Given the description of an element on the screen output the (x, y) to click on. 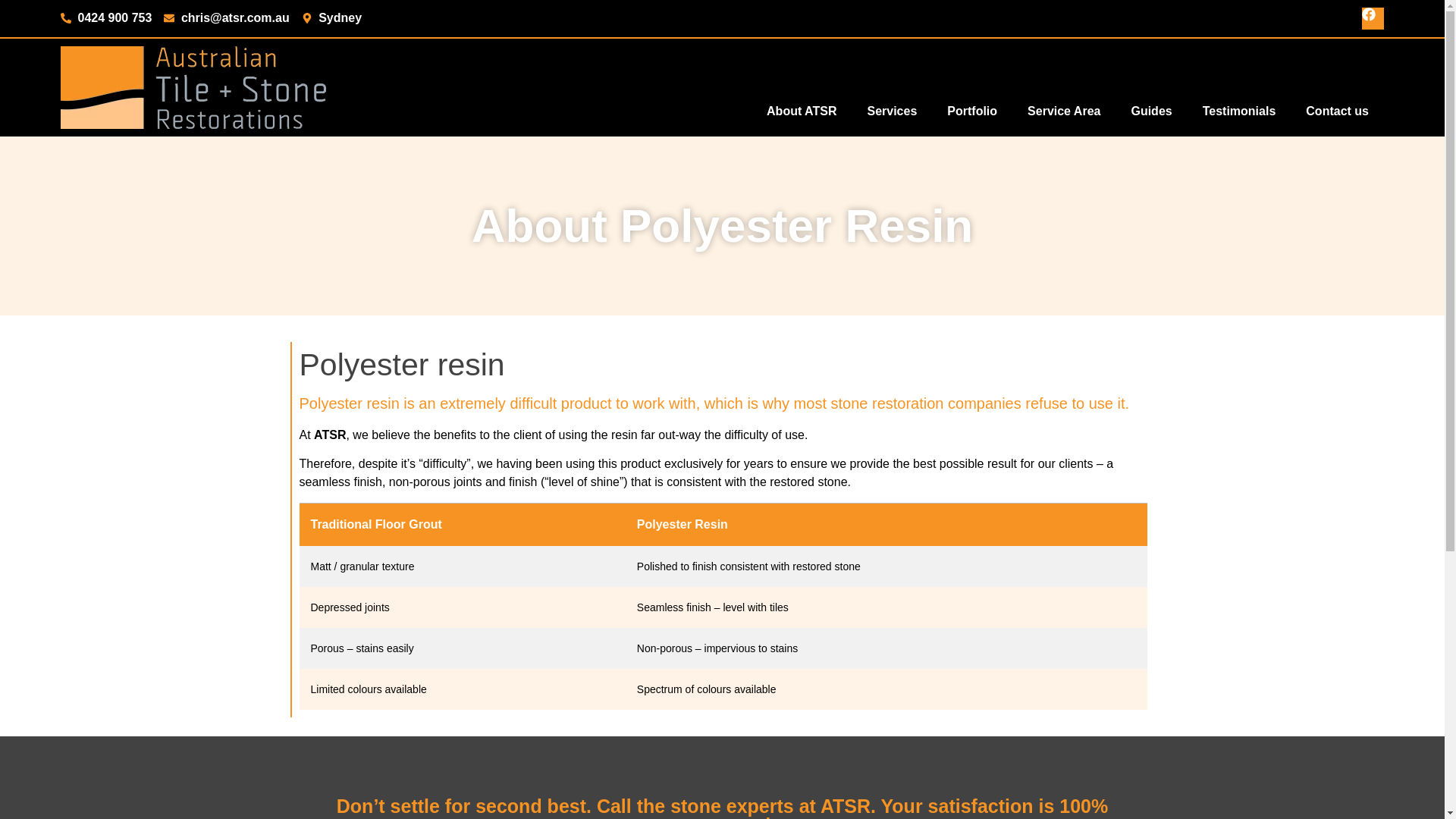
Contact us (1337, 111)
Testimonials (1239, 111)
Service Area (1063, 111)
0424 900 753 (106, 18)
Services (891, 111)
Portfolio (971, 111)
Guides (1150, 111)
About ATSR (801, 111)
